Given the description of an element on the screen output the (x, y) to click on. 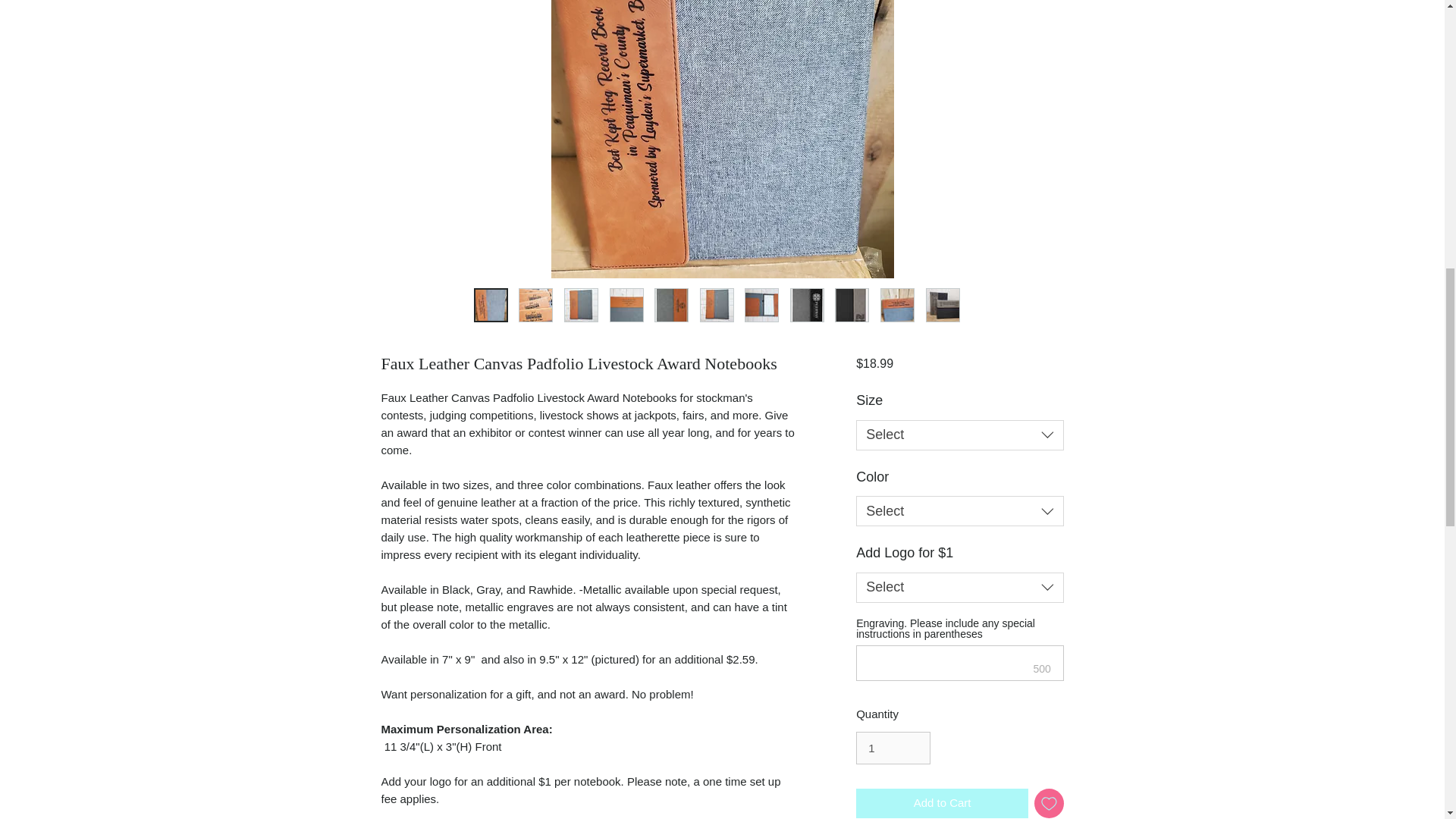
Select (959, 435)
Select (959, 511)
1 (893, 748)
